Given the description of an element on the screen output the (x, y) to click on. 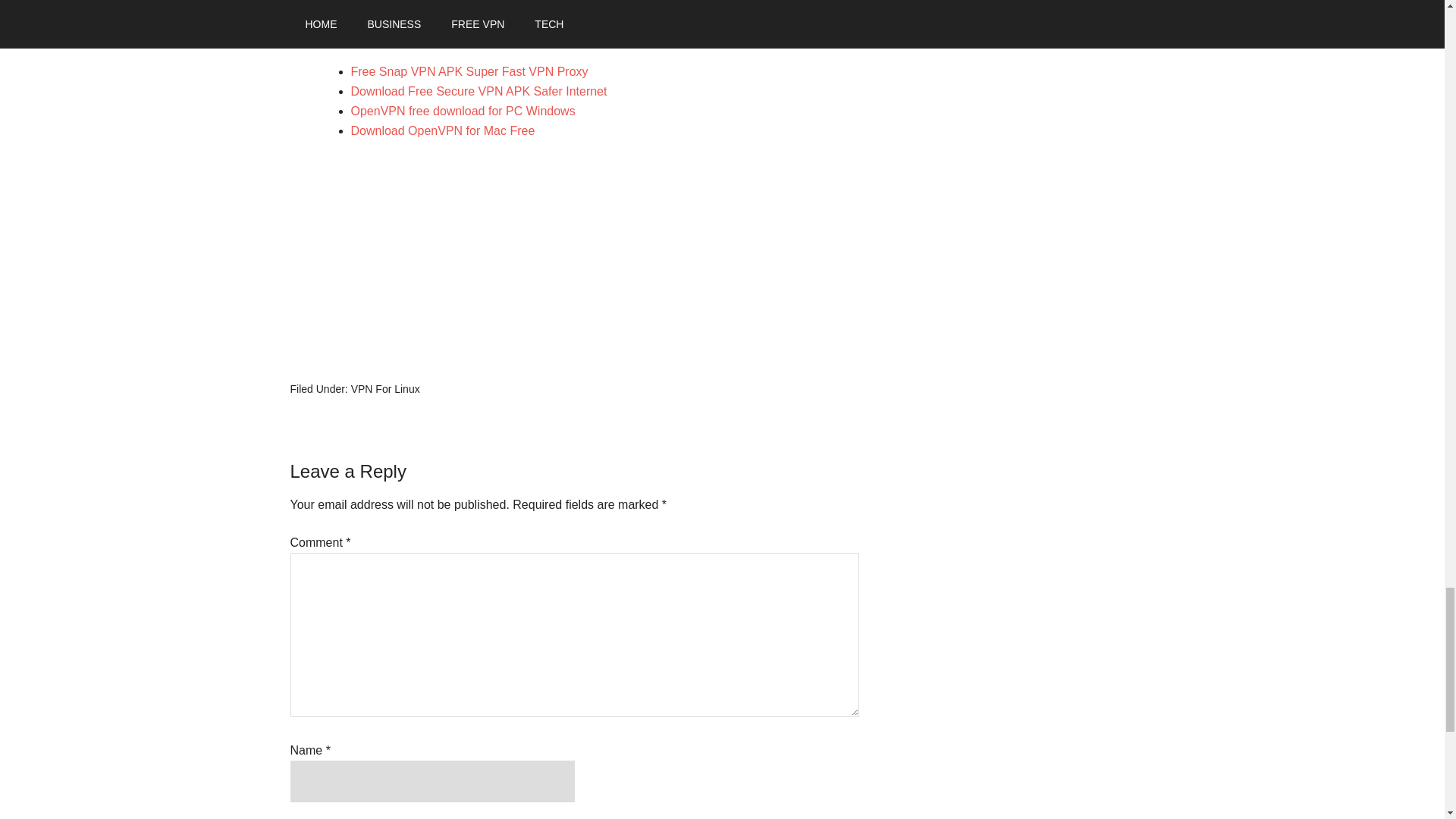
Download Free OpenVPN for Linux (574, 7)
Free Snap VPN APK Super Fast VPN Proxy (469, 71)
Download Free Secure VPN APK Safer Internet  (480, 91)
VPN For Linux (385, 388)
OpenVPN free download for PC Windows (462, 110)
Download OpenVPN for Mac Free (442, 130)
